Given the description of an element on the screen output the (x, y) to click on. 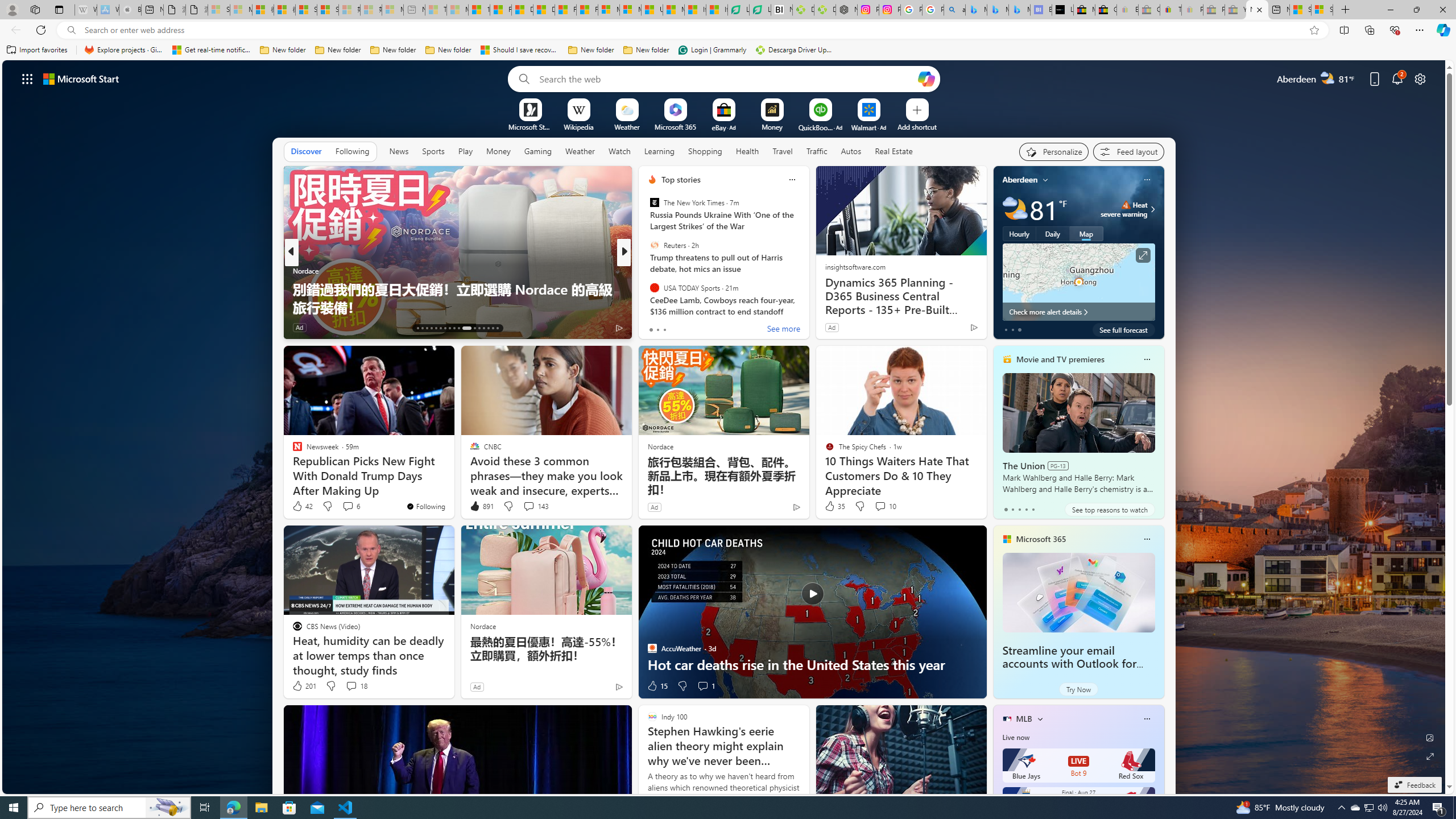
AutomationID: tab-15 (426, 328)
tab-2 (1019, 509)
Foo BAR | Trusted Community Engagement and Contributions (587, 9)
US Heat Deaths Soared To Record High Last Year (652, 9)
115 Like (654, 327)
View comments 6 Comment (347, 505)
App launcher (27, 78)
Learning (659, 151)
Movie and TV premieres (1060, 359)
Drinking tea every day is proven to delay biological aging (543, 9)
Money (497, 151)
